Given the description of an element on the screen output the (x, y) to click on. 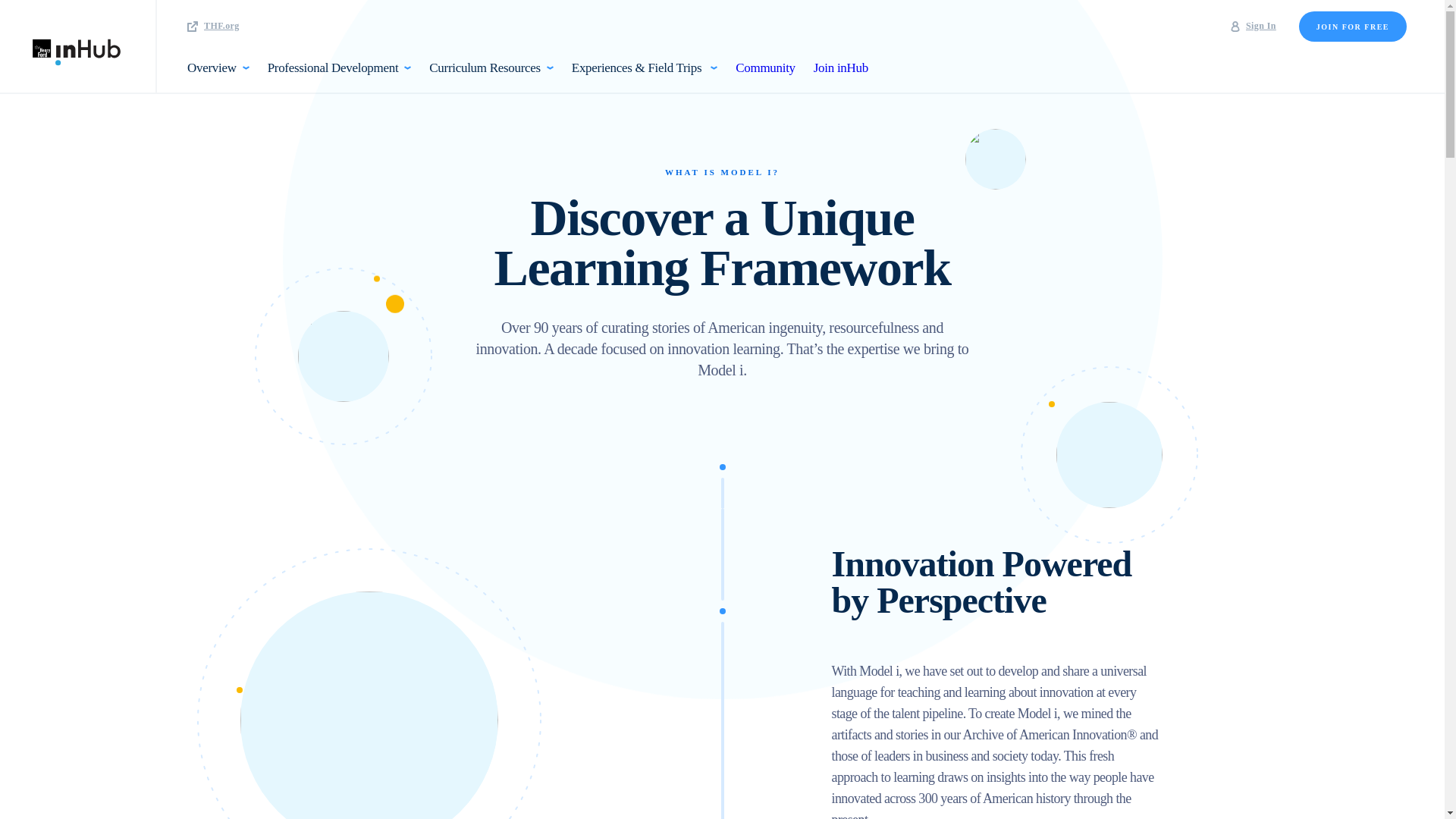
JOIN FOR FREE (1352, 26)
Community (764, 67)
THF.org (213, 26)
Sign In (1253, 26)
Professional Development (339, 75)
Overview (223, 75)
Curriculum Resources (491, 75)
Back to homepage (78, 46)
Join inHub (840, 67)
Join inHub (836, 75)
Community (765, 75)
